Given the description of an element on the screen output the (x, y) to click on. 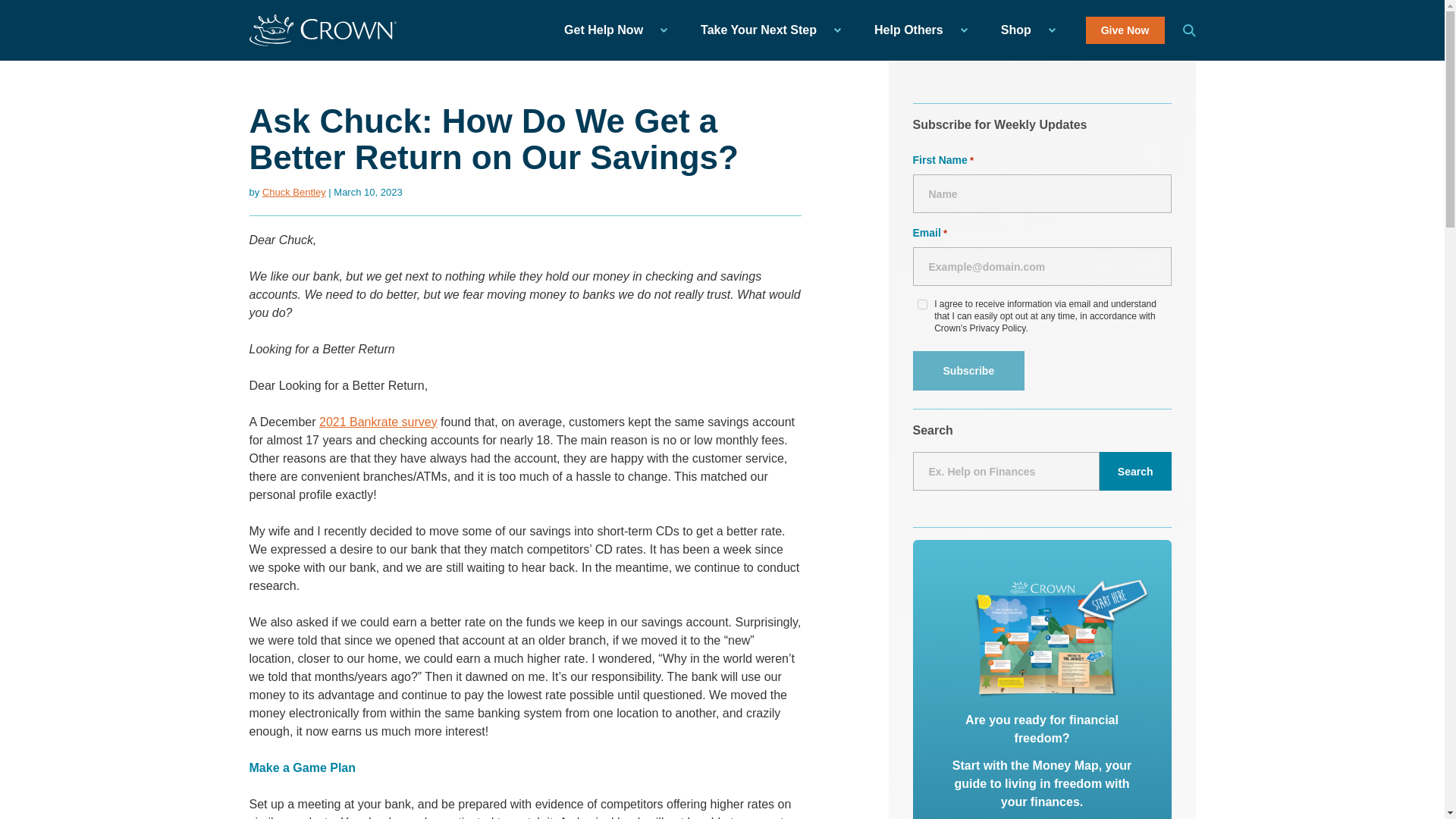
Subscribe (968, 370)
Give Now (1125, 30)
Search (1188, 30)
Shop (1023, 30)
Search (1135, 471)
Banner Blue Image (1062, 635)
Get Help Now (611, 30)
Take Your Next Step (766, 30)
Crown Logo 2021 H White 2023 (322, 29)
Help Others (916, 30)
